Given the description of an element on the screen output the (x, y) to click on. 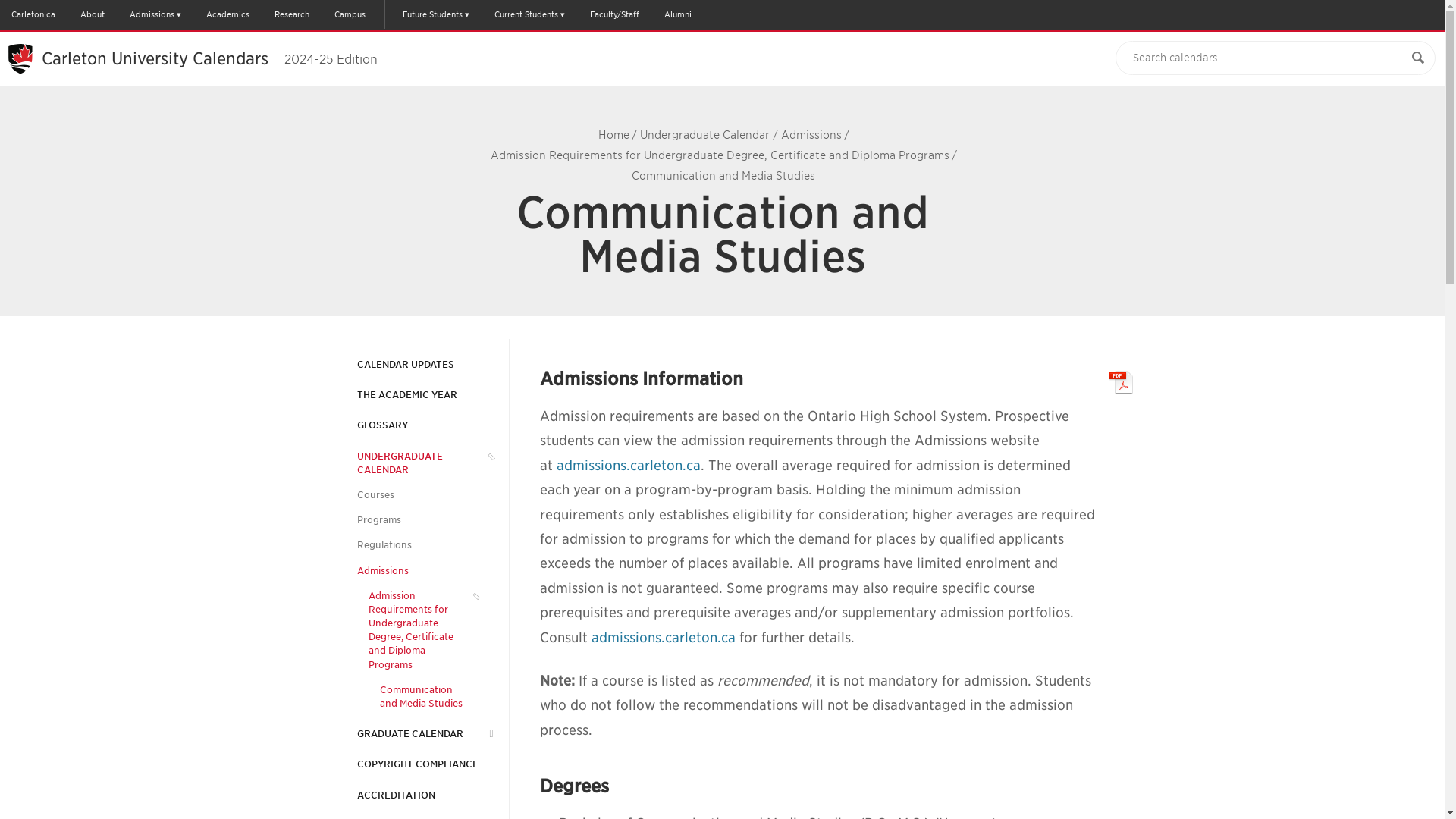
Admissions (381, 571)
Undergraduate Calendar (705, 134)
Admissions (810, 134)
CALENDAR UPDATES (404, 364)
Carleton.ca (33, 14)
Communication and Media Studies (420, 696)
Toggle Undergraduate Calendar (486, 456)
Added content (919, 680)
Research (291, 14)
Added content (763, 680)
Search (1417, 57)
Alumni (677, 14)
Added content (815, 704)
Courses (374, 495)
